Given the description of an element on the screen output the (x, y) to click on. 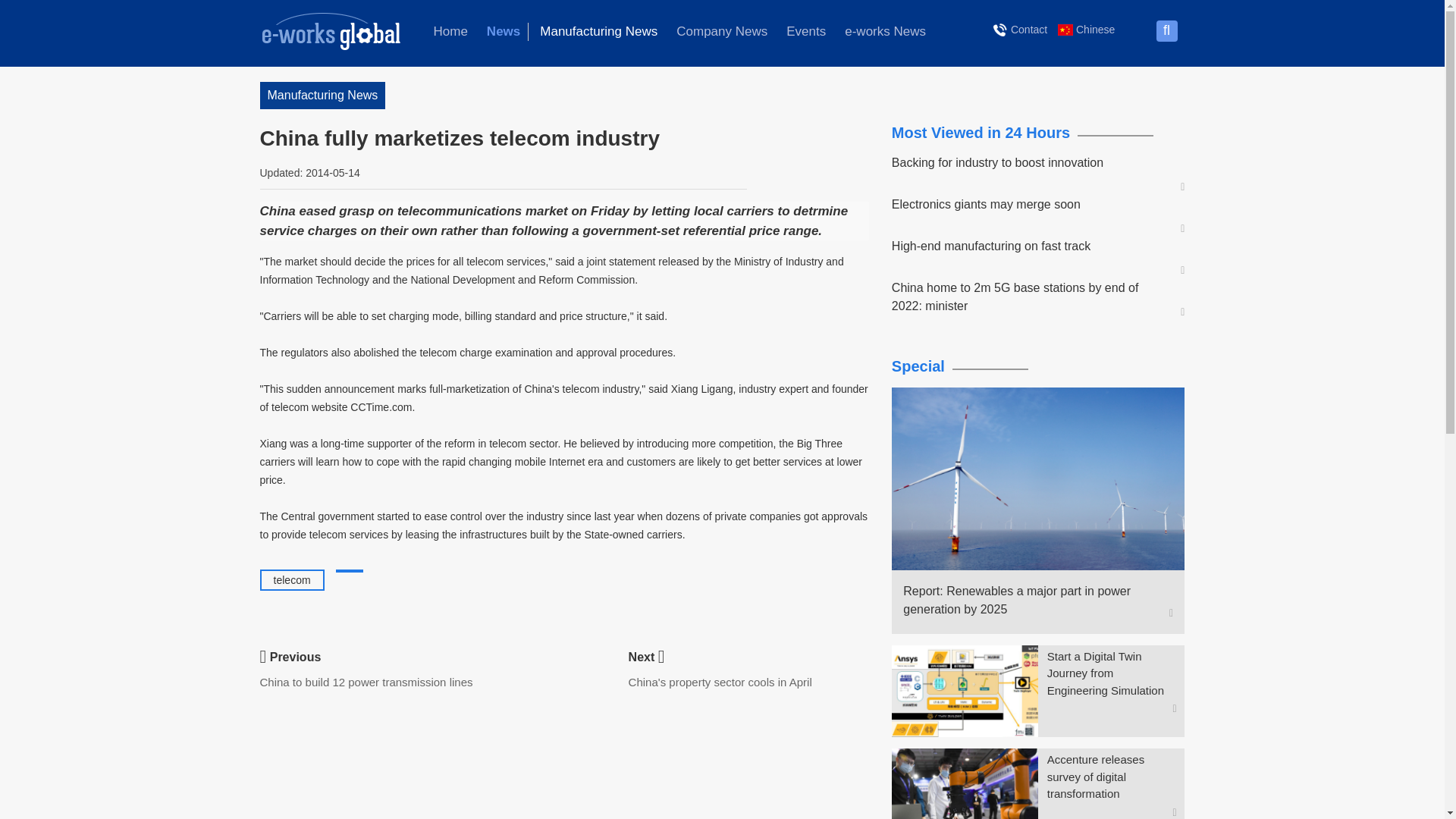
News (503, 31)
telecom (292, 580)
China to build 12 power transmission lines (365, 681)
China home to 2m 5G base stations by end of 2022: minister (1030, 297)
High-end manufacturing on fast track (1030, 246)
Backing for industry to boost innovation (1030, 162)
Accenture releases survey of digital transformation (1111, 777)
Events (805, 31)
Contact (1020, 29)
Electronics giants may merge soon (1030, 204)
Home (451, 31)
Company News (721, 31)
Report: Renewables a major part in power generation by 2025 (1030, 600)
Start a Digital Twin Journey from Engineering Simulation (1111, 674)
Manufacturing News (598, 31)
